Given the description of an element on the screen output the (x, y) to click on. 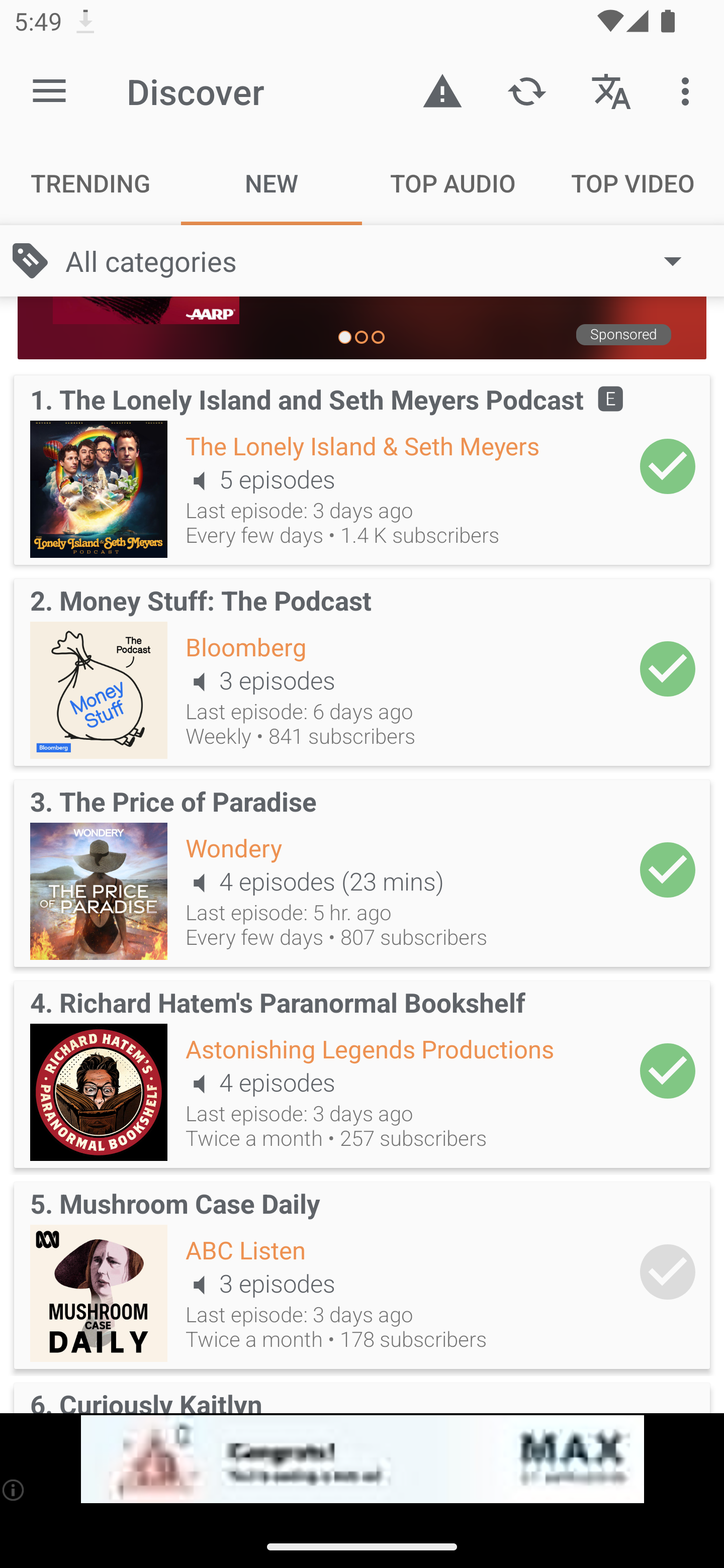
Open navigation sidebar (49, 91)
Report inappropriate content (442, 90)
Update top podcasts list (526, 90)
Podcast languages (611, 90)
More options (688, 90)
Trending TRENDING (90, 183)
Top Audio TOP AUDIO (452, 183)
Top Video TOP VIDEO (633, 183)
All categories (383, 260)
Add (667, 466)
Add (667, 669)
Add (667, 869)
Add (667, 1070)
Add (667, 1271)
app-monetization (362, 1459)
(i) (14, 1489)
